Given the description of an element on the screen output the (x, y) to click on. 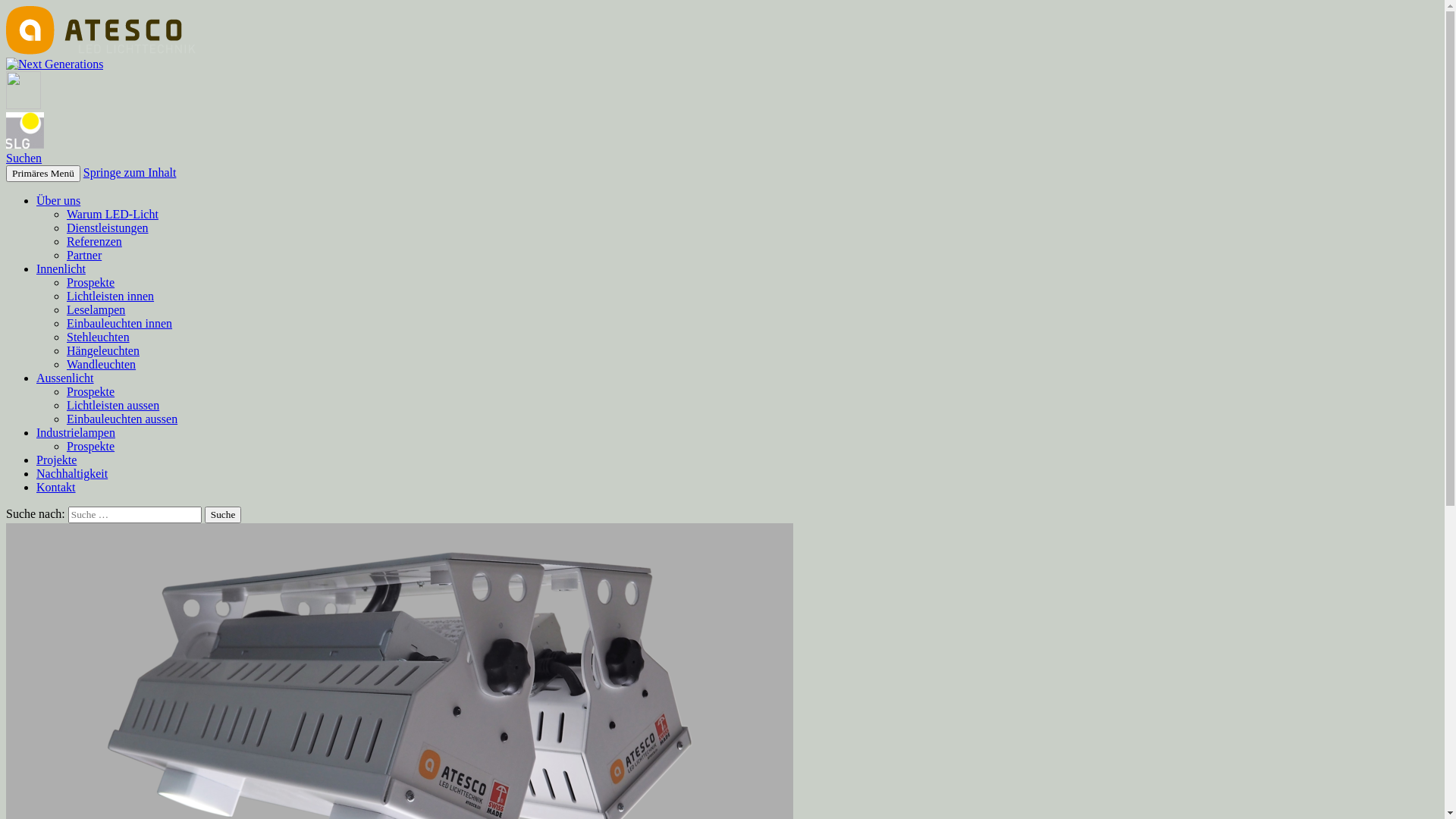
Prospekte Element type: text (90, 282)
Lichtleisten innen Element type: text (109, 295)
Aussenlicht Element type: text (65, 377)
Prospekte Element type: text (90, 445)
Projekte Element type: text (56, 459)
Leselampen Element type: text (95, 309)
Lichtleisten aussen Element type: text (112, 404)
Warum LED-Licht Element type: text (112, 213)
Suchen Element type: text (23, 157)
Innenlicht Element type: text (60, 268)
Suche Element type: text (222, 514)
Prospekte Element type: text (90, 391)
Nachhaltigkeit Element type: text (71, 473)
Kontakt Element type: text (55, 486)
Einbauleuchten innen Element type: text (119, 322)
Wandleuchten Element type: text (100, 363)
Partner Element type: text (83, 254)
Industrielampen Element type: text (75, 432)
Stehleuchten Element type: text (97, 336)
Springe zum Inhalt Element type: text (129, 172)
Dienstleistungen Element type: text (107, 227)
Referenzen Element type: text (94, 241)
Einbauleuchten aussen Element type: text (121, 418)
